Given the description of an element on the screen output the (x, y) to click on. 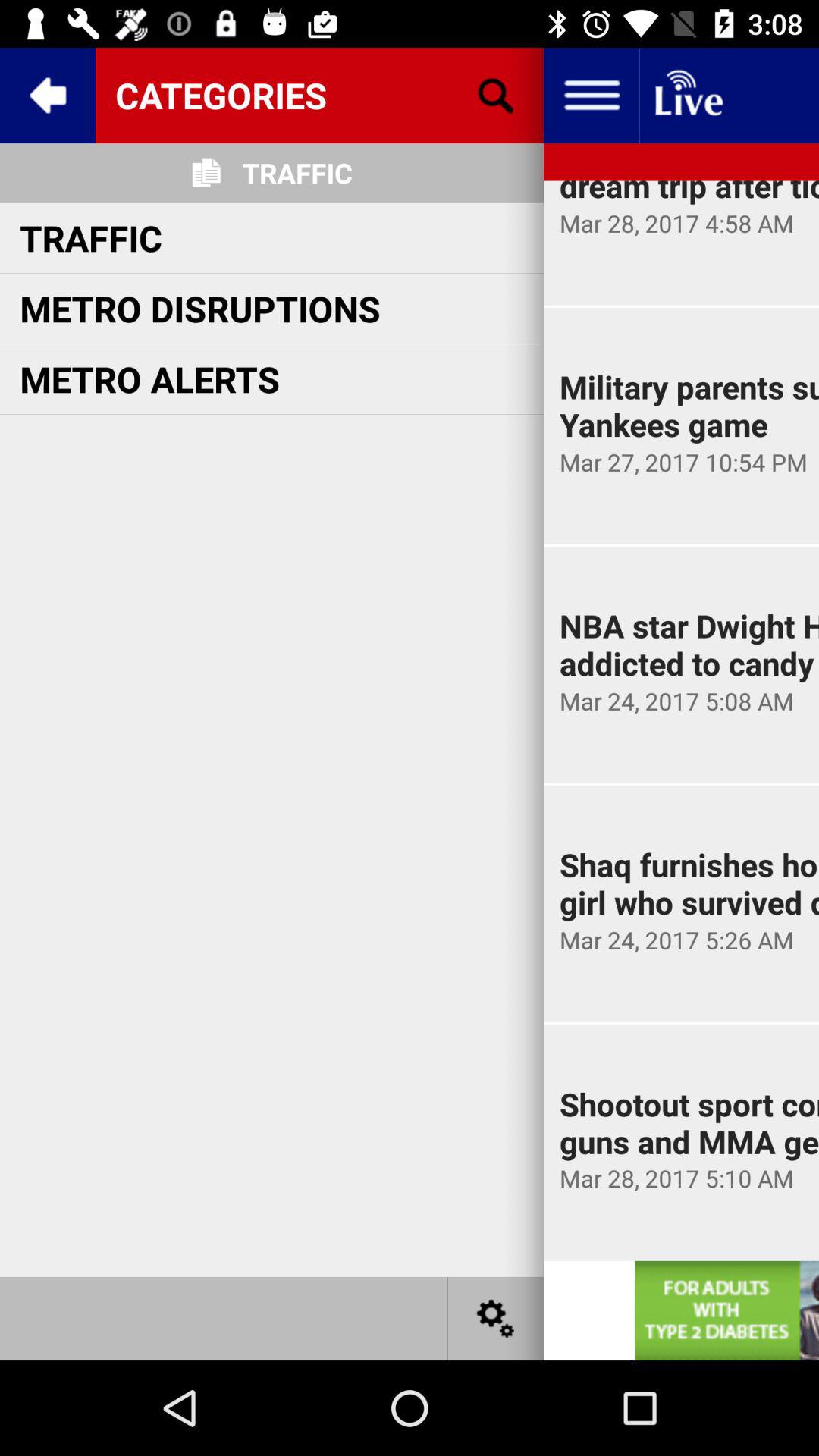
go to website (726, 1310)
